Given the description of an element on the screen output the (x, y) to click on. 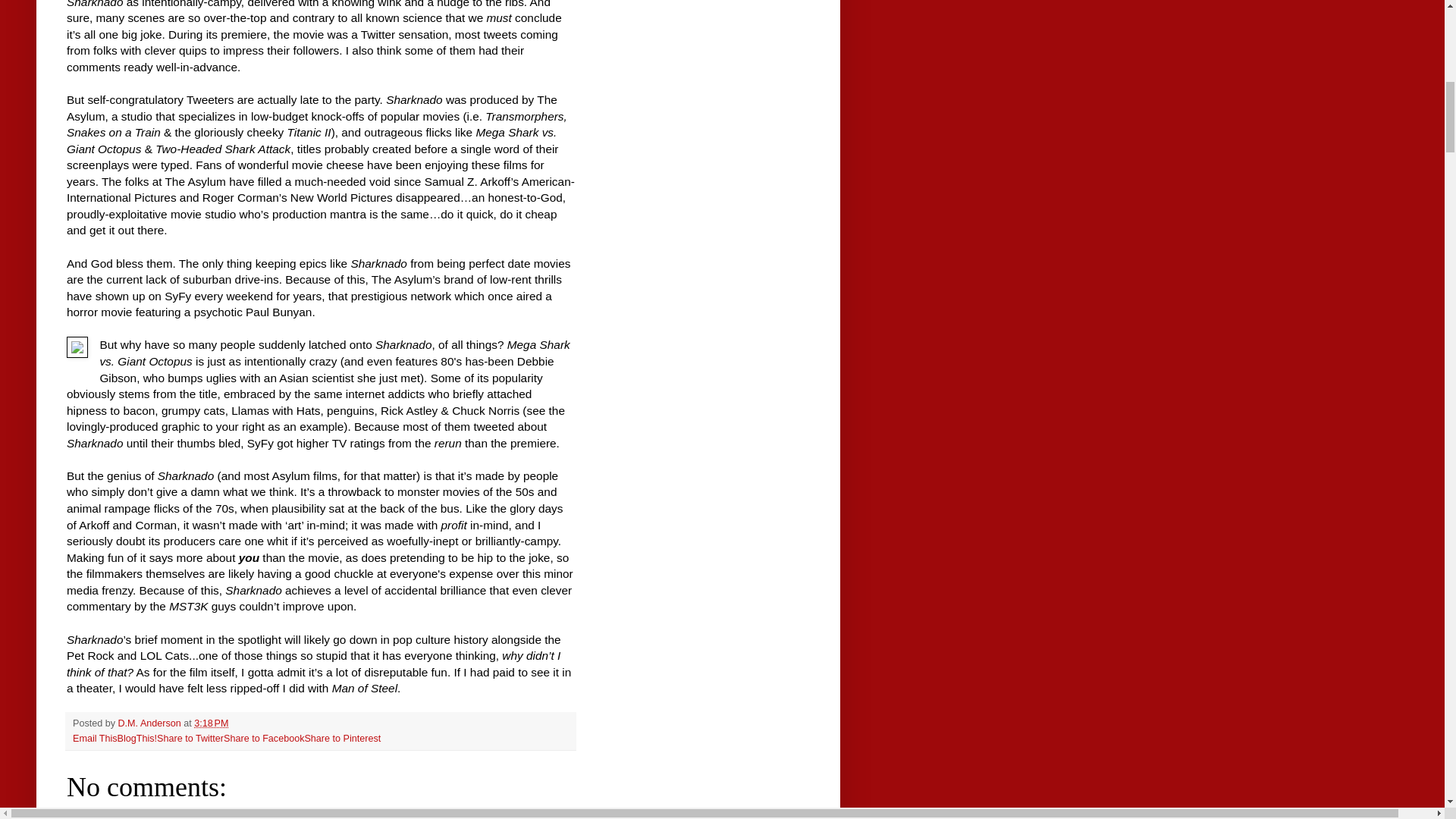
Share to Facebook (264, 738)
Email This (94, 738)
D.M. Anderson (150, 723)
Share to Facebook (264, 738)
Share to Pinterest (342, 738)
Email Post (237, 723)
BlogThis! (137, 738)
author profile (150, 723)
Share to Twitter (190, 738)
Post a Comment (105, 816)
Email This (94, 738)
Share to Twitter (190, 738)
BlogThis! (137, 738)
Share to Pinterest (342, 738)
permanent link (210, 723)
